Given the description of an element on the screen output the (x, y) to click on. 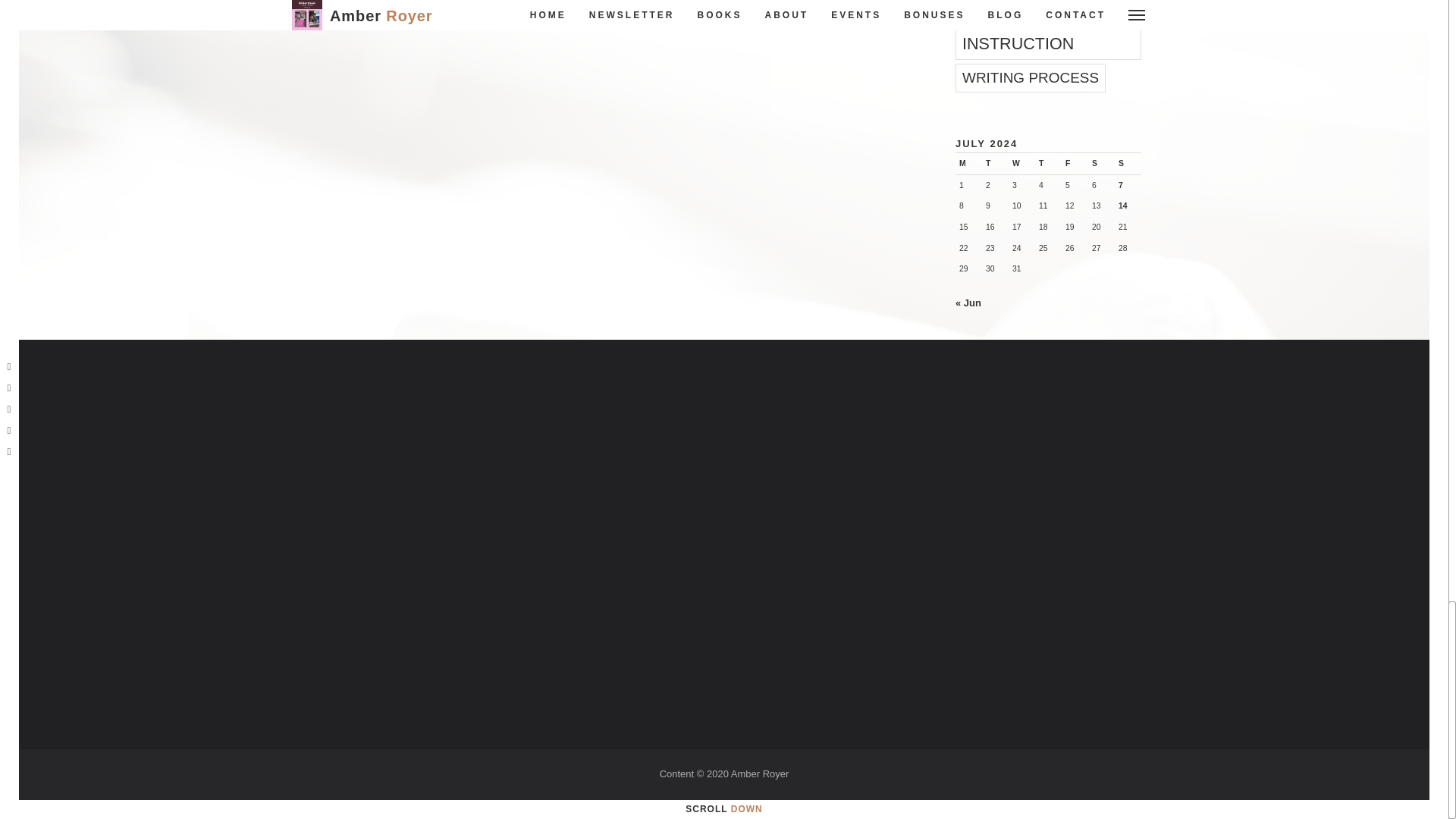
Saturday (1101, 164)
Tuesday (995, 164)
Sunday (1128, 164)
Thursday (1048, 164)
Wednesday (1022, 164)
Friday (1074, 164)
Monday (968, 164)
